Given the description of an element on the screen output the (x, y) to click on. 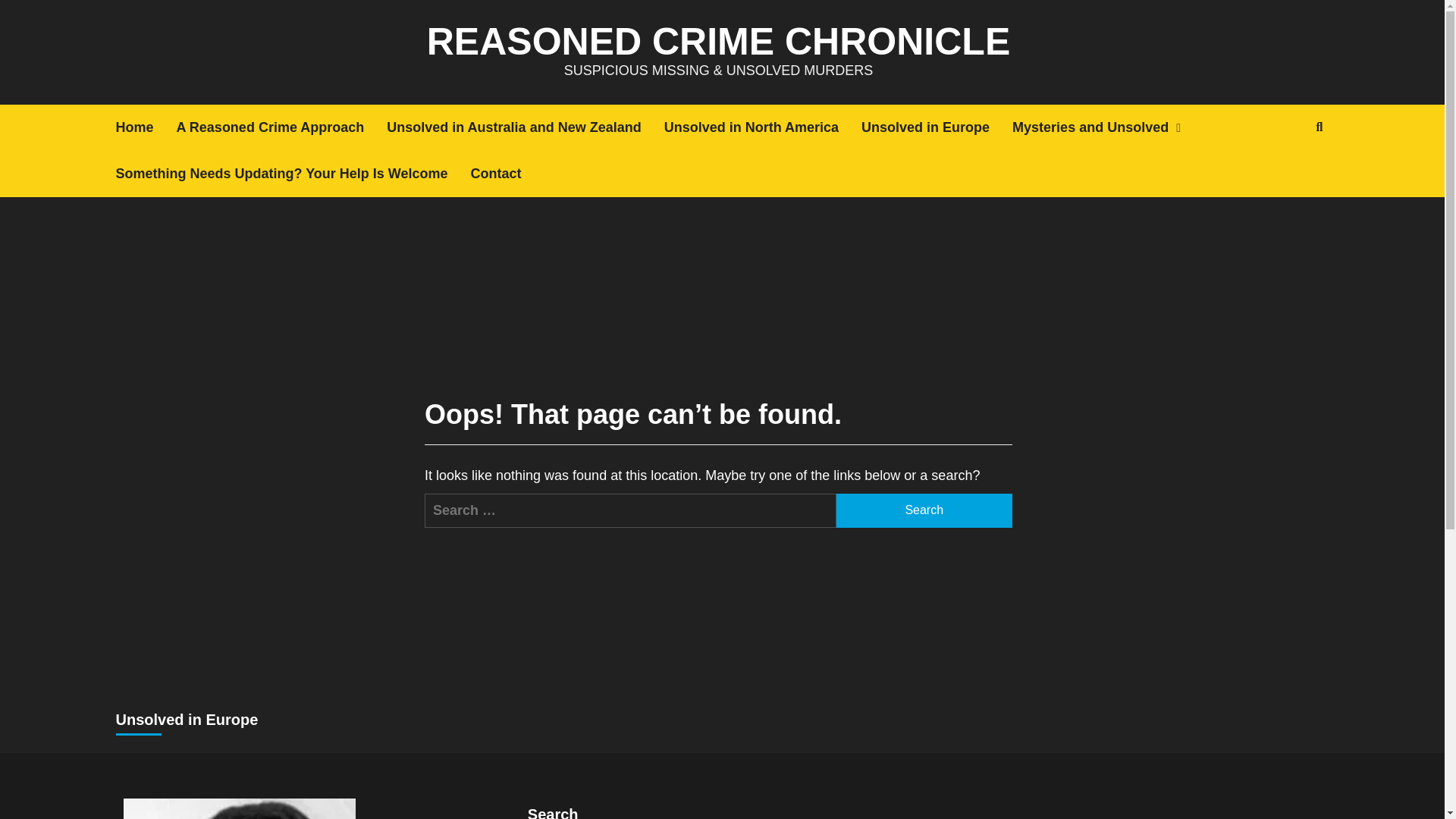
Contact (507, 173)
Search (923, 510)
Mysteries and Unsolved (1111, 127)
Unsolved in Europe (936, 127)
A Reasoned Crime Approach (281, 127)
Search (923, 510)
Something Needs Updating? Your Help Is Welcome (292, 173)
Home (145, 127)
Search (1283, 175)
REASONED CRIME CHRONICLE (718, 41)
